Given the description of an element on the screen output the (x, y) to click on. 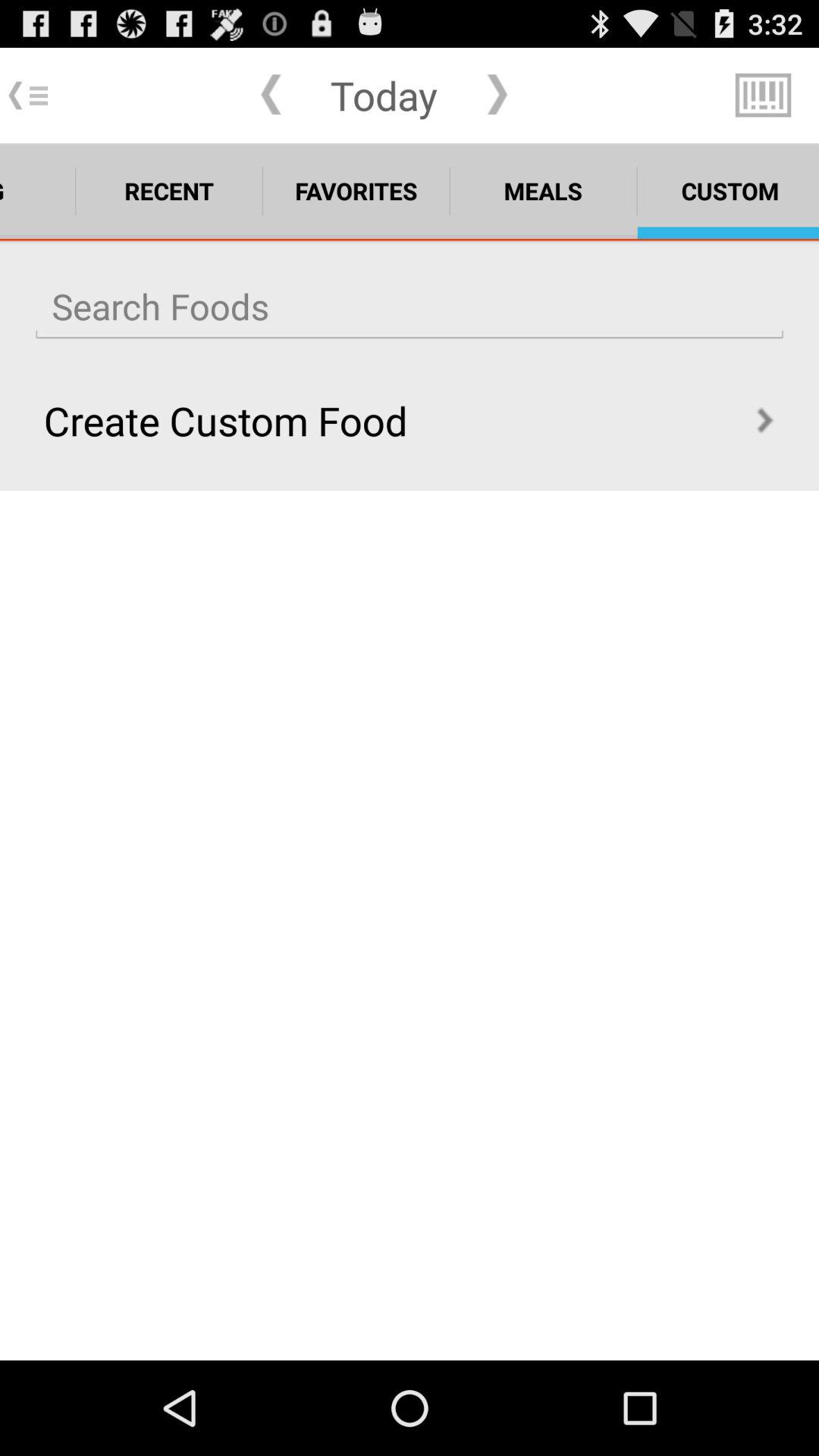
search foods (409, 306)
